Given the description of an element on the screen output the (x, y) to click on. 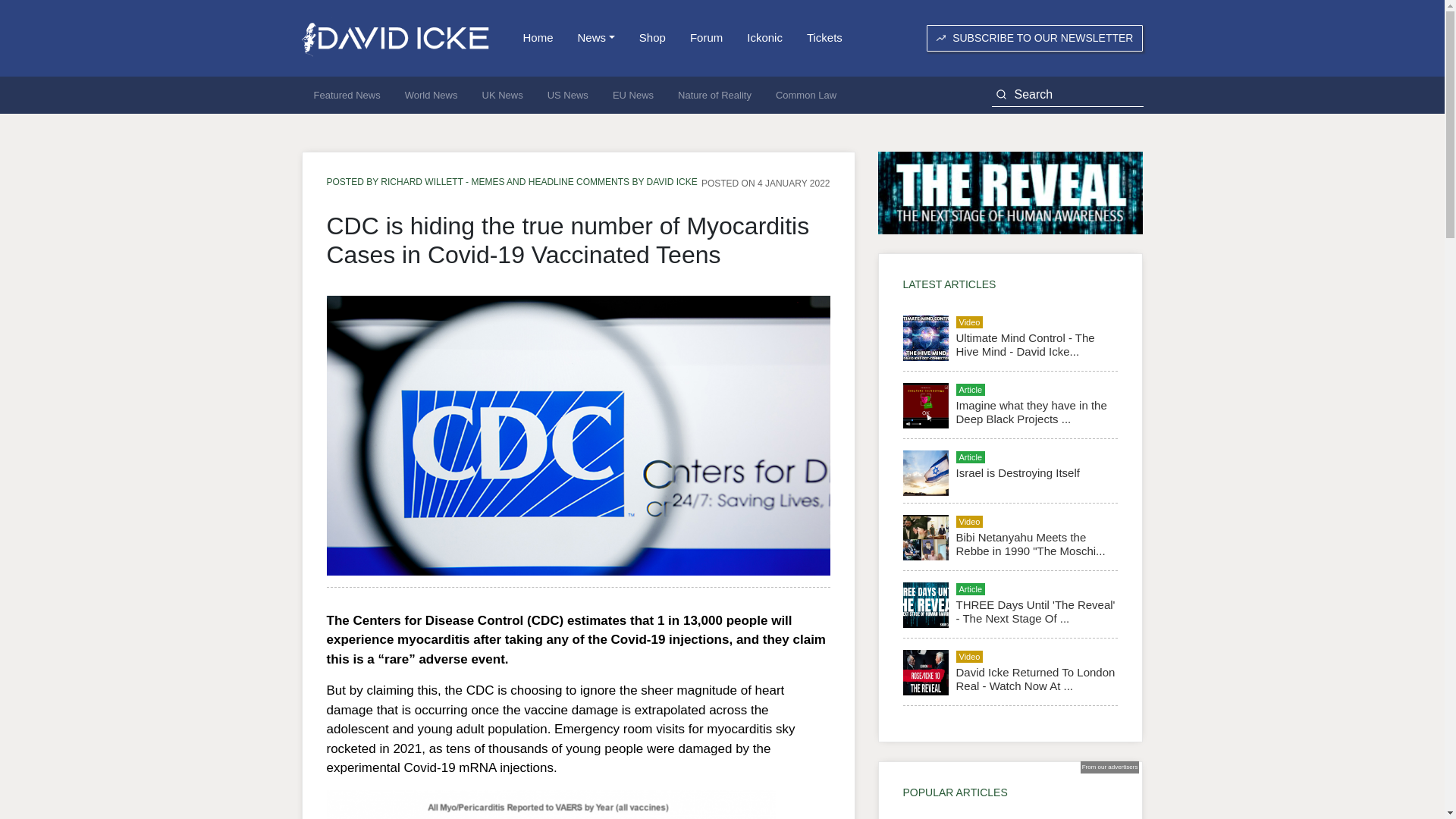
Bibi Netanyahu Meets the Rebbe in 1990  (1030, 543)
POSTED ON 4 JANUARY 2022 (765, 182)
Home (538, 37)
EU News (632, 94)
Israel is Destroying Itself (1016, 472)
US News (567, 94)
Forum (706, 37)
News (596, 37)
Ickonic (764, 37)
